Given the description of an element on the screen output the (x, y) to click on. 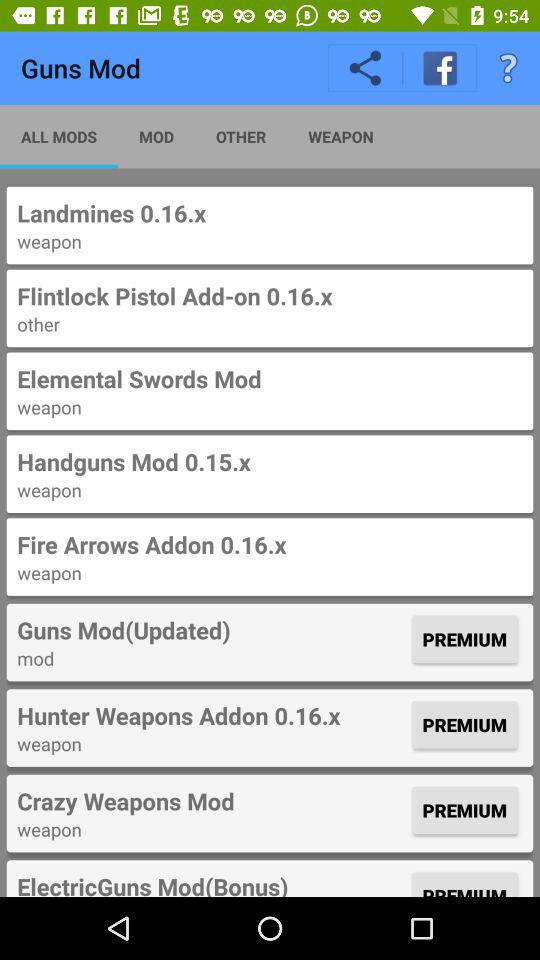
scroll until flintlock pistol add item (269, 295)
